Given the description of an element on the screen output the (x, y) to click on. 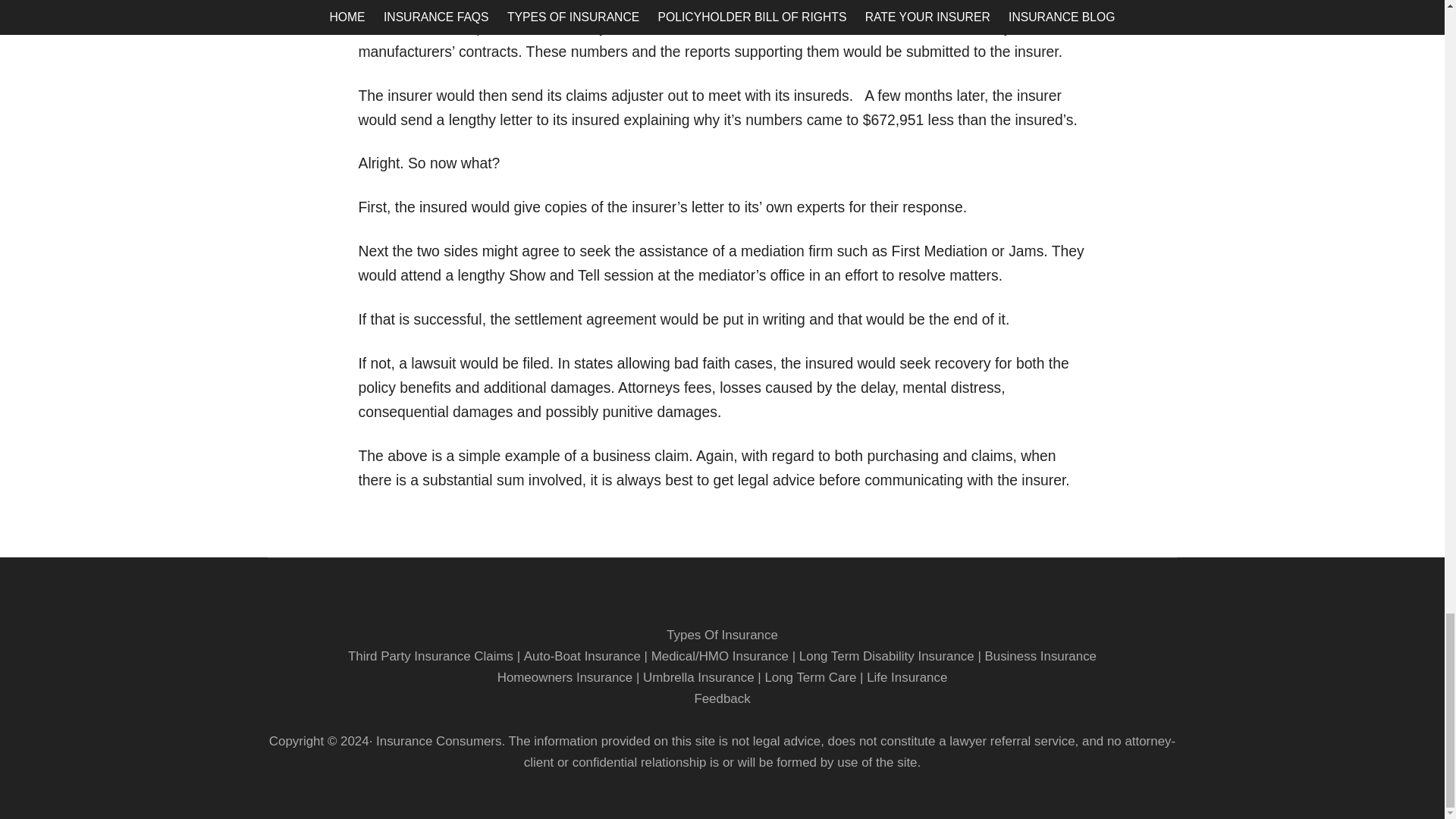
Types Of Insurance (721, 635)
Long Term Care (810, 677)
Auto-Boat Insurance (582, 656)
Long Term Disability Insurance (886, 656)
Feedback (721, 698)
Life Insurance (906, 677)
Third Party Insurance Claims (430, 656)
Homeowners Insurance (565, 677)
Umbrella Insurance (698, 677)
Business Insurance (1040, 656)
